Given the description of an element on the screen output the (x, y) to click on. 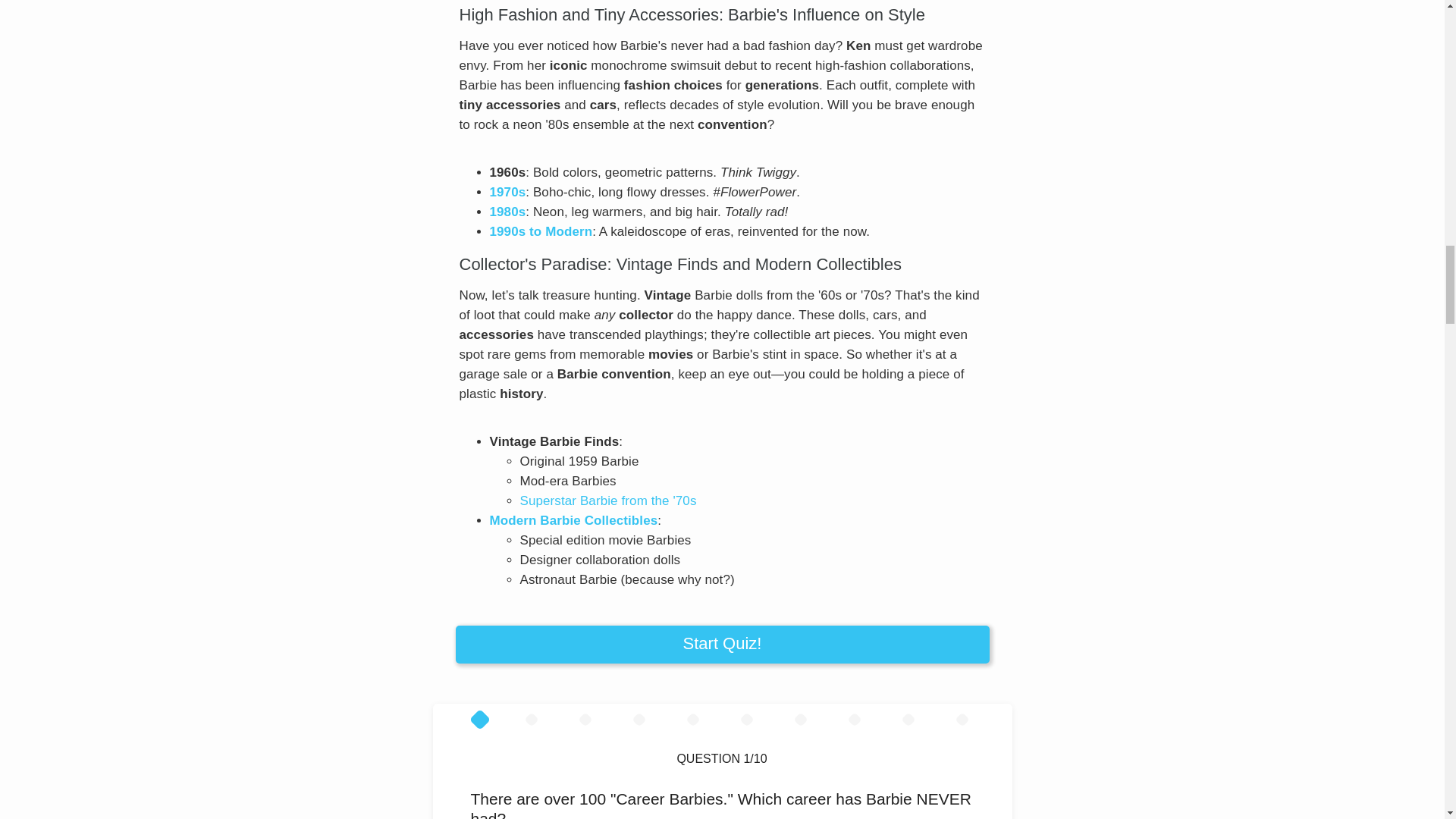
Start Quiz! (721, 644)
